Given the description of an element on the screen output the (x, y) to click on. 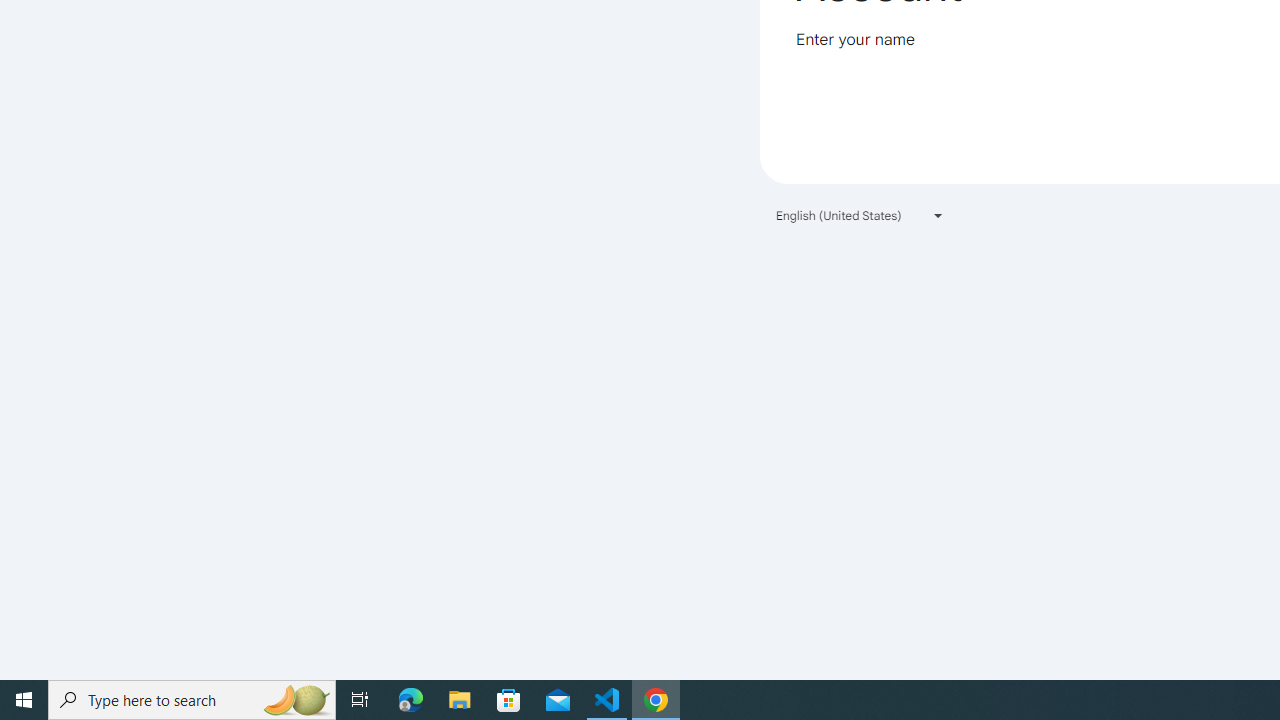
English (United States) (860, 214)
